Given the description of an element on the screen output the (x, y) to click on. 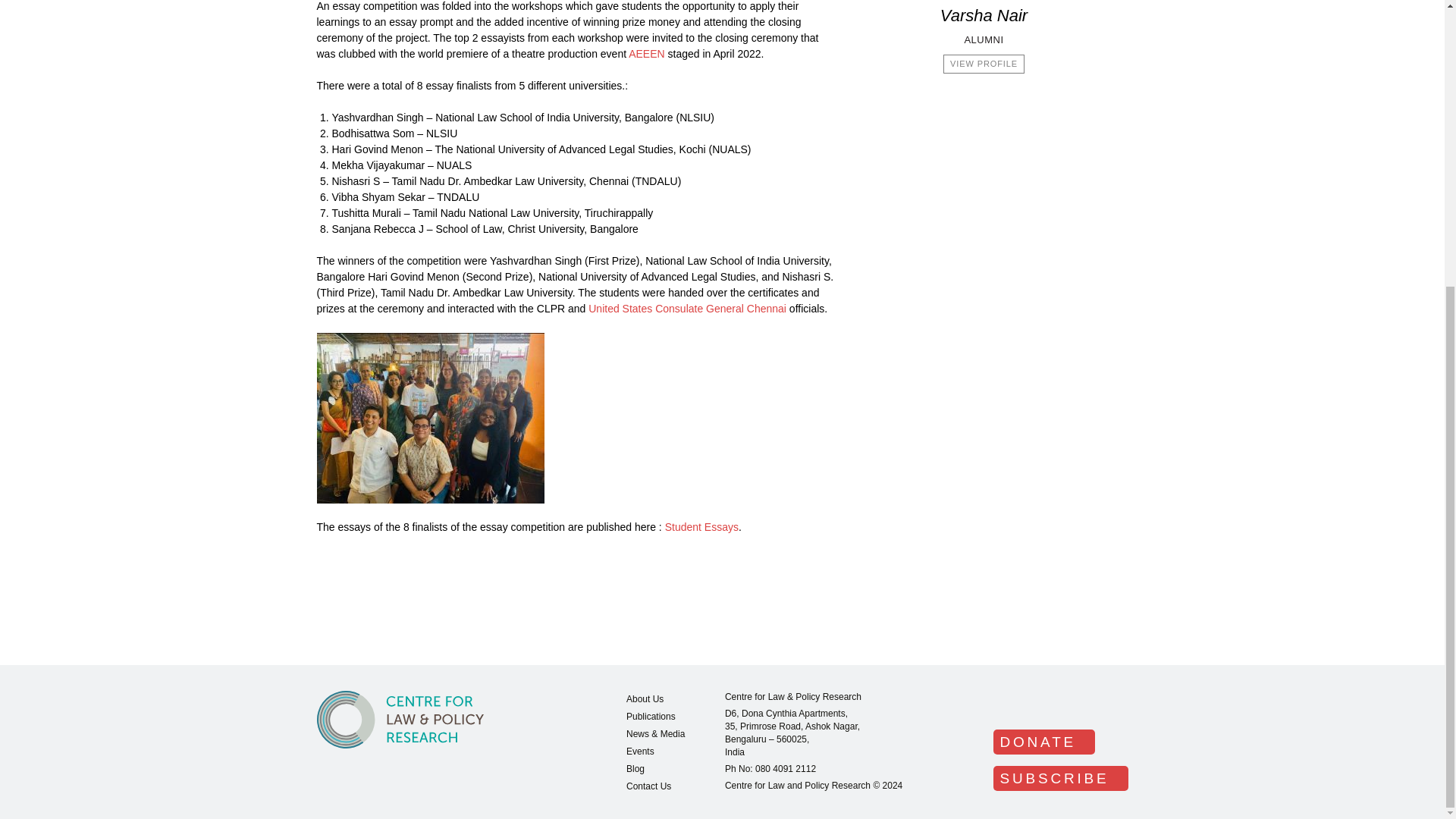
Youtube (1099, 704)
CLPR (400, 719)
Twitter (1067, 704)
Facebook (1006, 704)
LinkedIn (1038, 704)
